Given the description of an element on the screen output the (x, y) to click on. 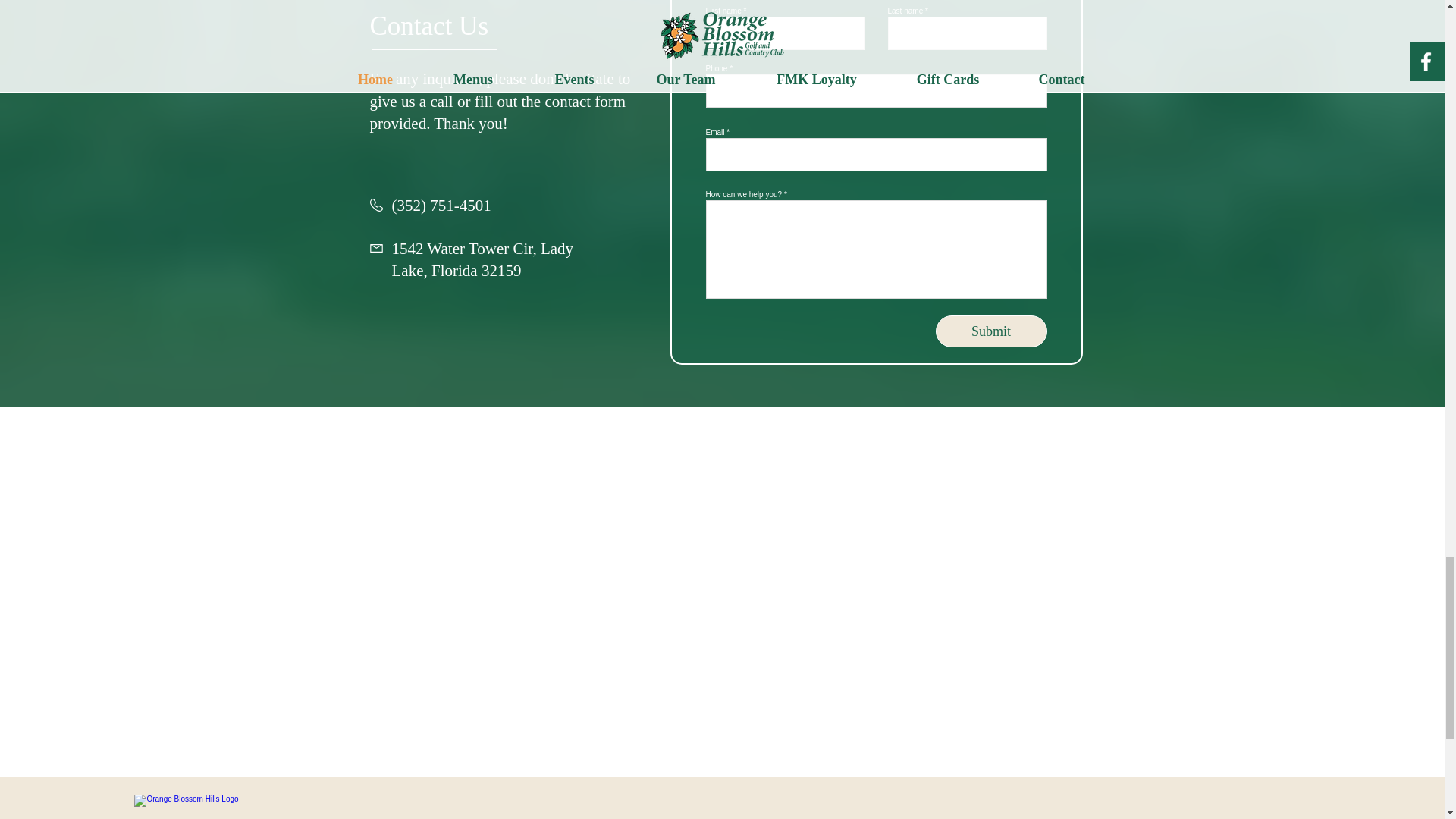
Submit (991, 331)
